Given the description of an element on the screen output the (x, y) to click on. 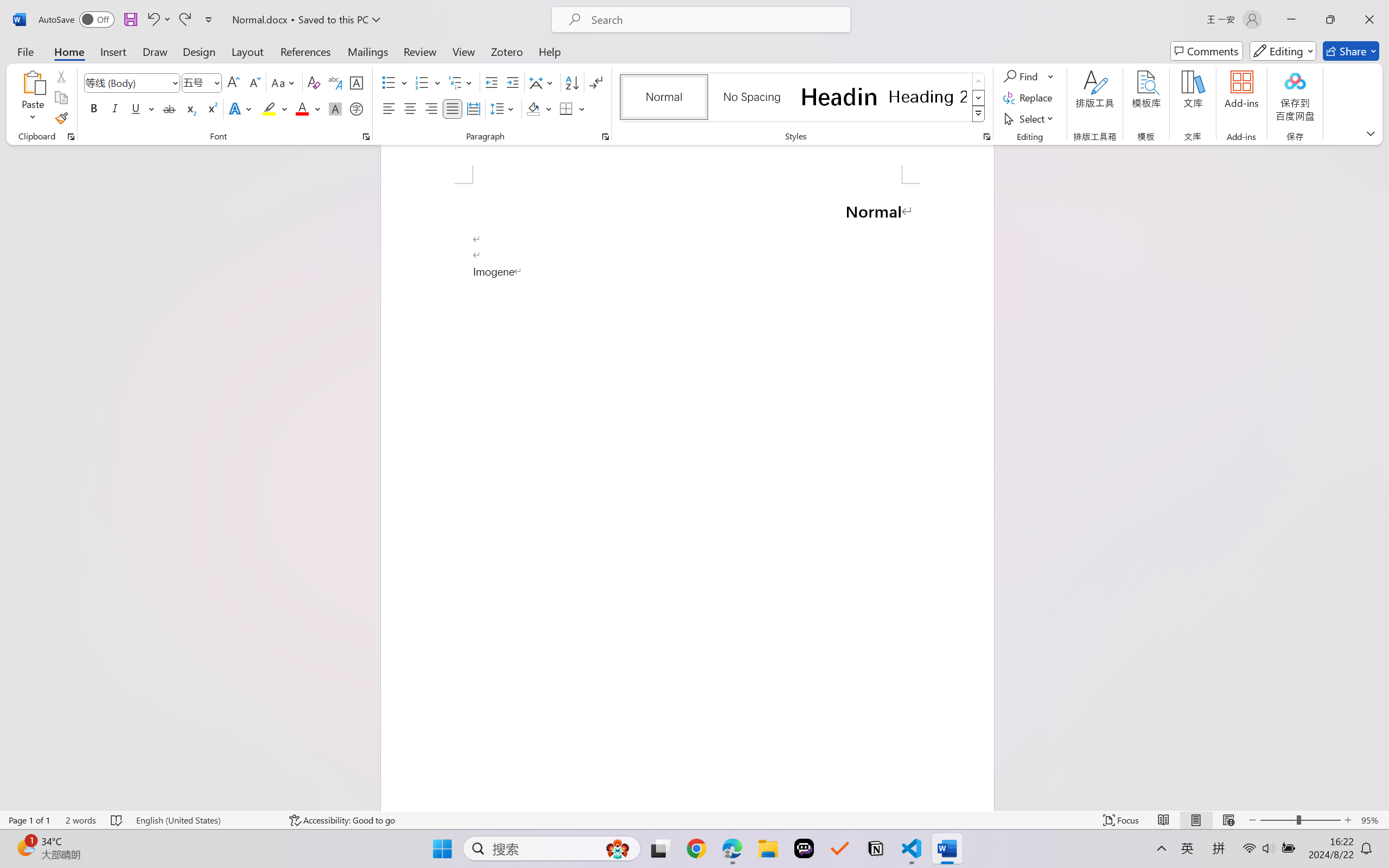
Shrink Font (253, 82)
AutomationID: QuickStylesGallery (802, 97)
Subscript (190, 108)
Styles (978, 113)
